Given the description of an element on the screen output the (x, y) to click on. 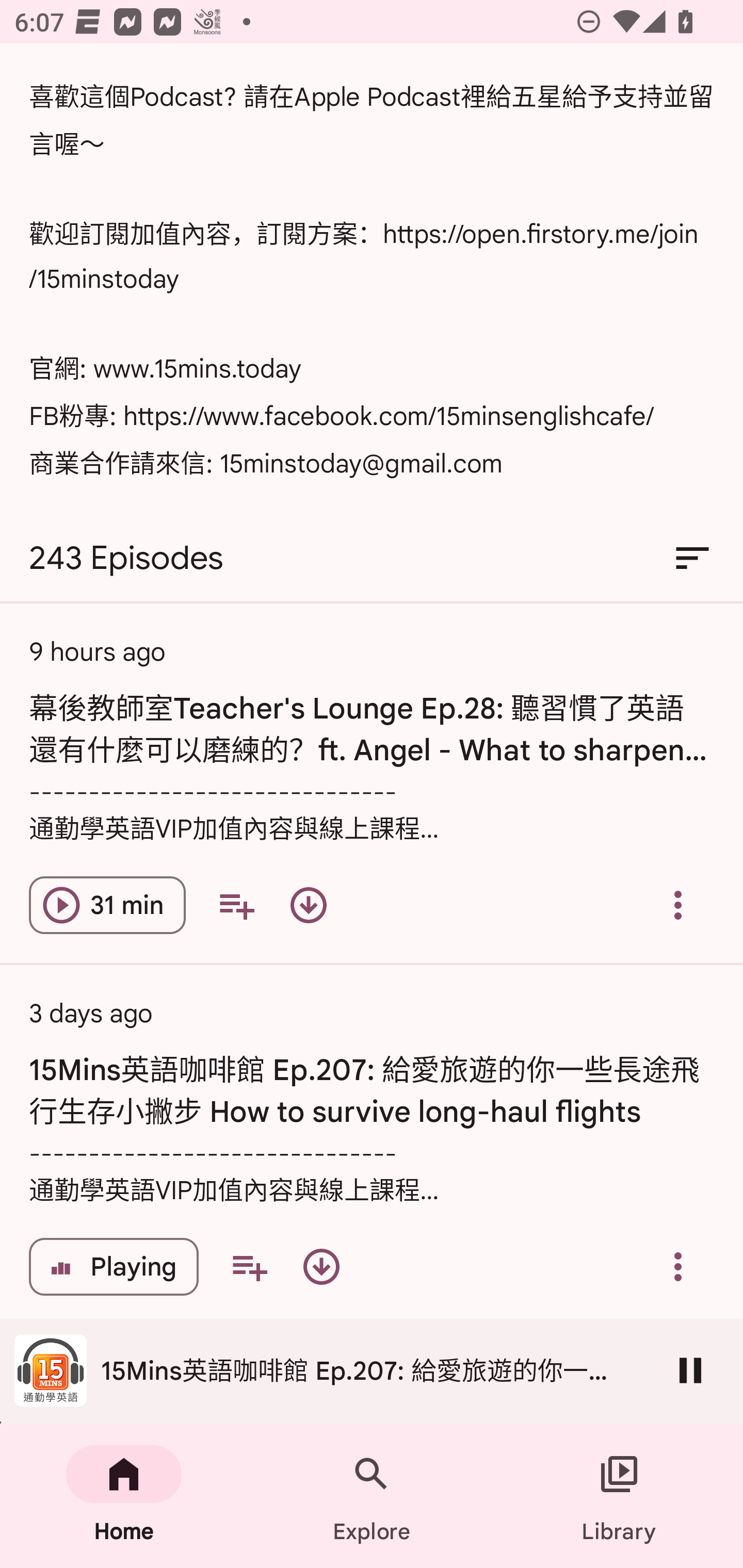
Sort (692, 558)
Add to your queue (235, 905)
Download episode (308, 905)
Overflow menu (677, 905)
Add to your queue (249, 1266)
Download episode (321, 1266)
Overflow menu (677, 1266)
Pause (690, 1370)
Explore (371, 1495)
Library (619, 1495)
